Given the description of an element on the screen output the (x, y) to click on. 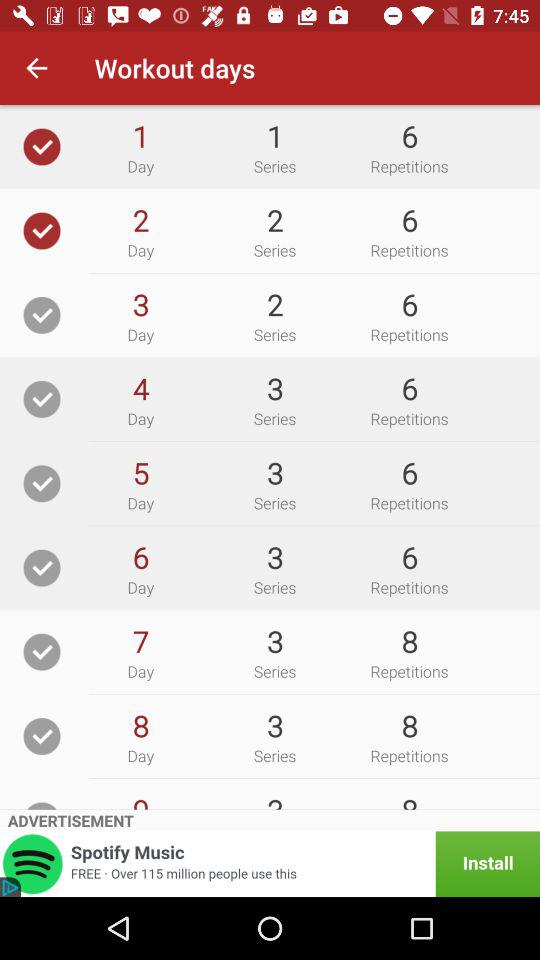
choose the item below advertisement icon (270, 863)
